Given the description of an element on the screen output the (x, y) to click on. 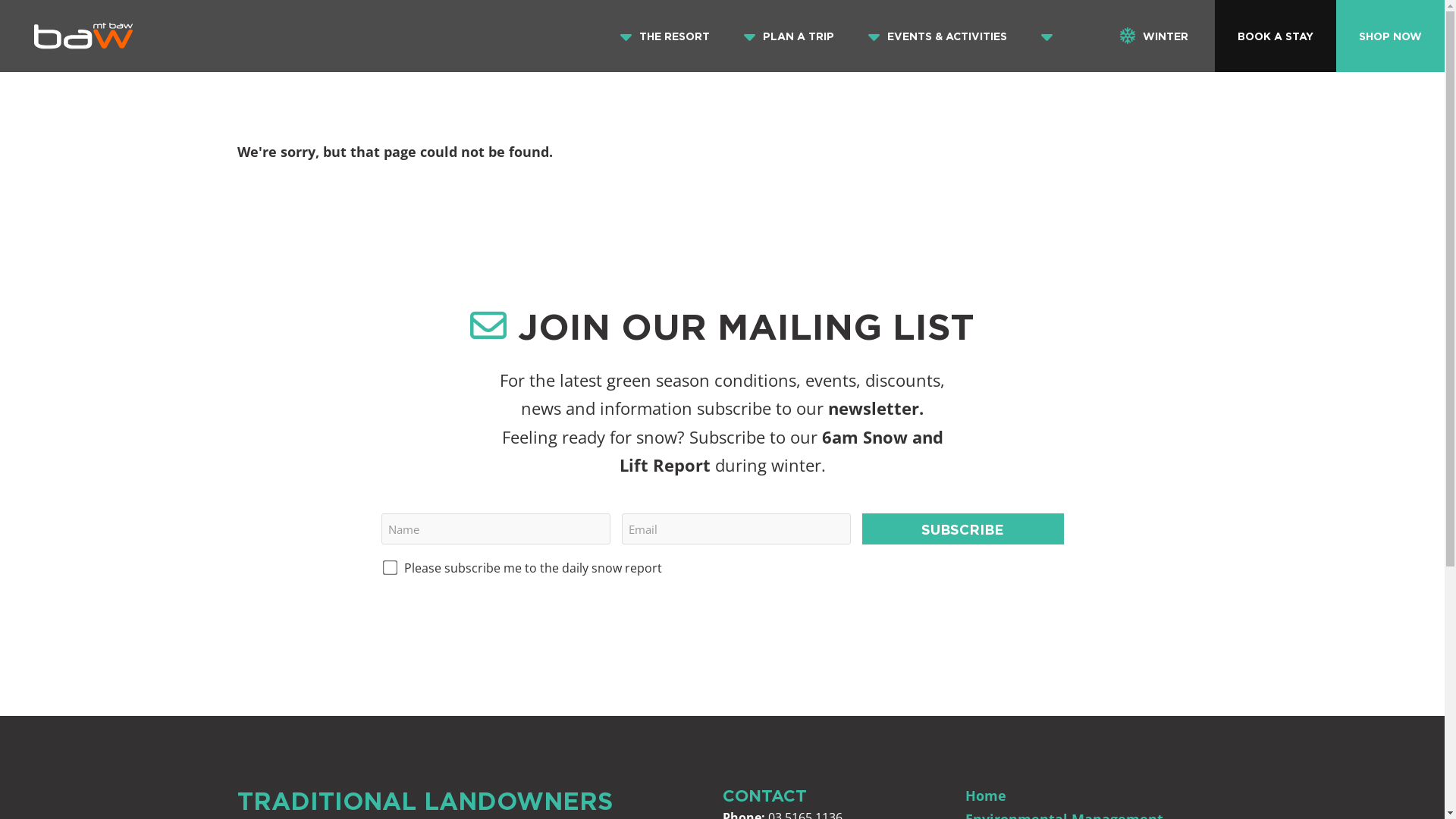
Home Element type: text (984, 795)
BOOK A STAY Element type: text (1275, 36)
EVENTS & ACTIVITIES Element type: text (946, 35)
SUBSCRIBE Element type: text (962, 528)
THE RESORT Element type: text (674, 35)
SHOP NOW Element type: text (1390, 36)
PLAN A TRIP Element type: text (798, 35)
WINTER Element type: text (1153, 36)
